Given the description of an element on the screen output the (x, y) to click on. 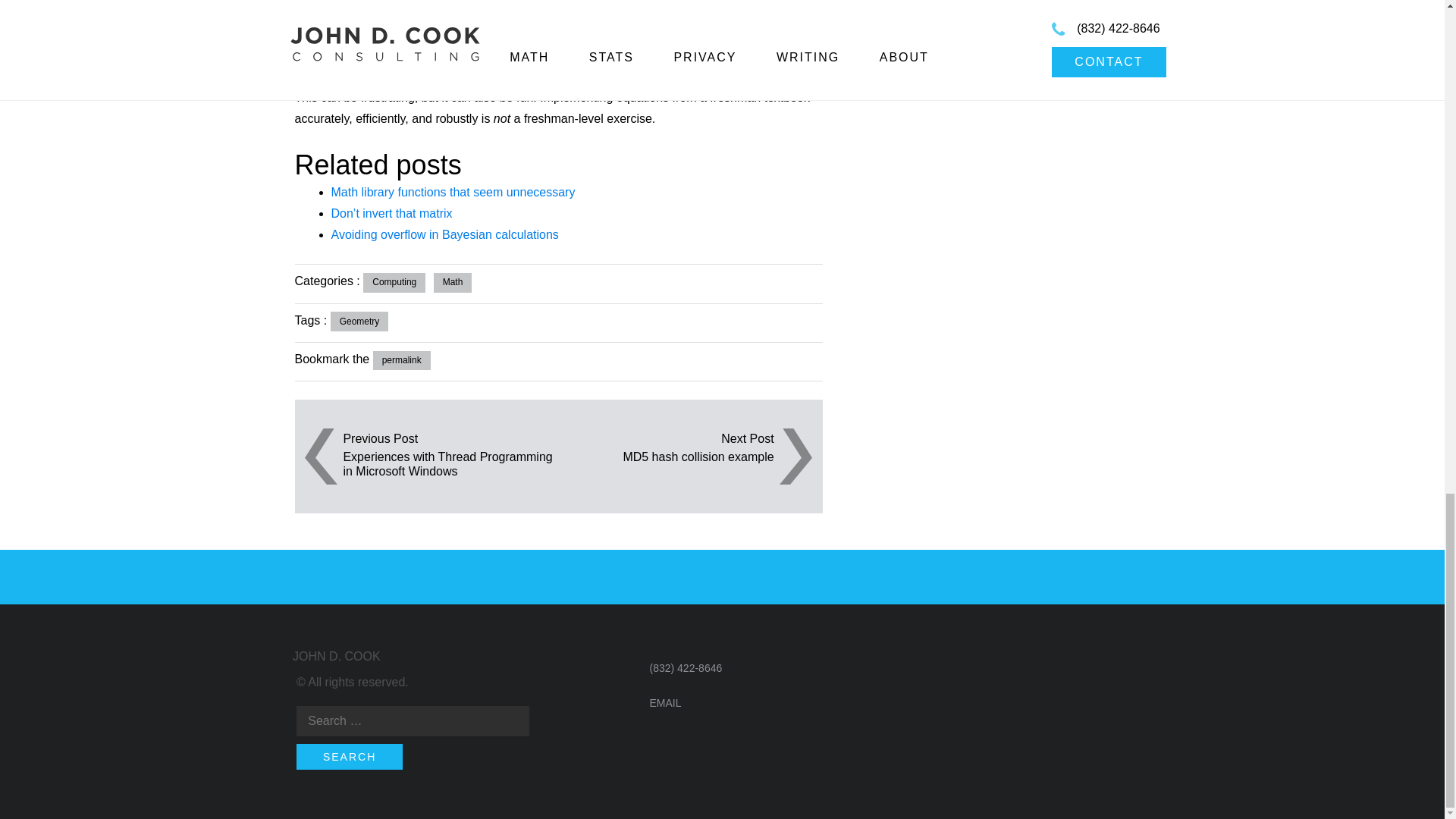
Computing (393, 282)
Search (350, 756)
Math library functions that seem unnecessary (452, 192)
Search for: (413, 720)
Search (350, 756)
Avoiding overflow in Bayesian calculations (443, 234)
Permalink to Distance from a point to a line (401, 361)
